Given the description of an element on the screen output the (x, y) to click on. 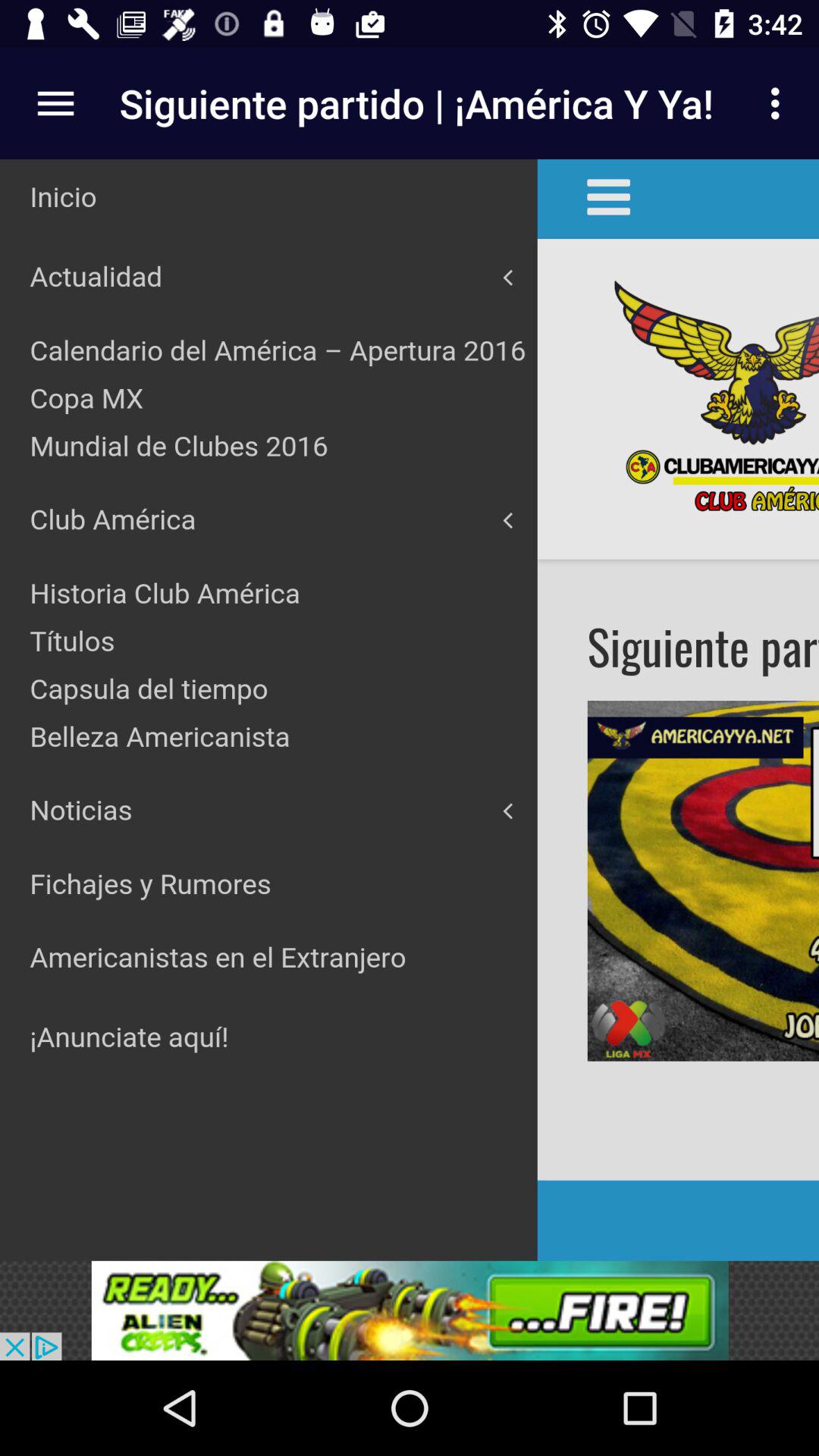
alien creeps advertisement (409, 1310)
